Given the description of an element on the screen output the (x, y) to click on. 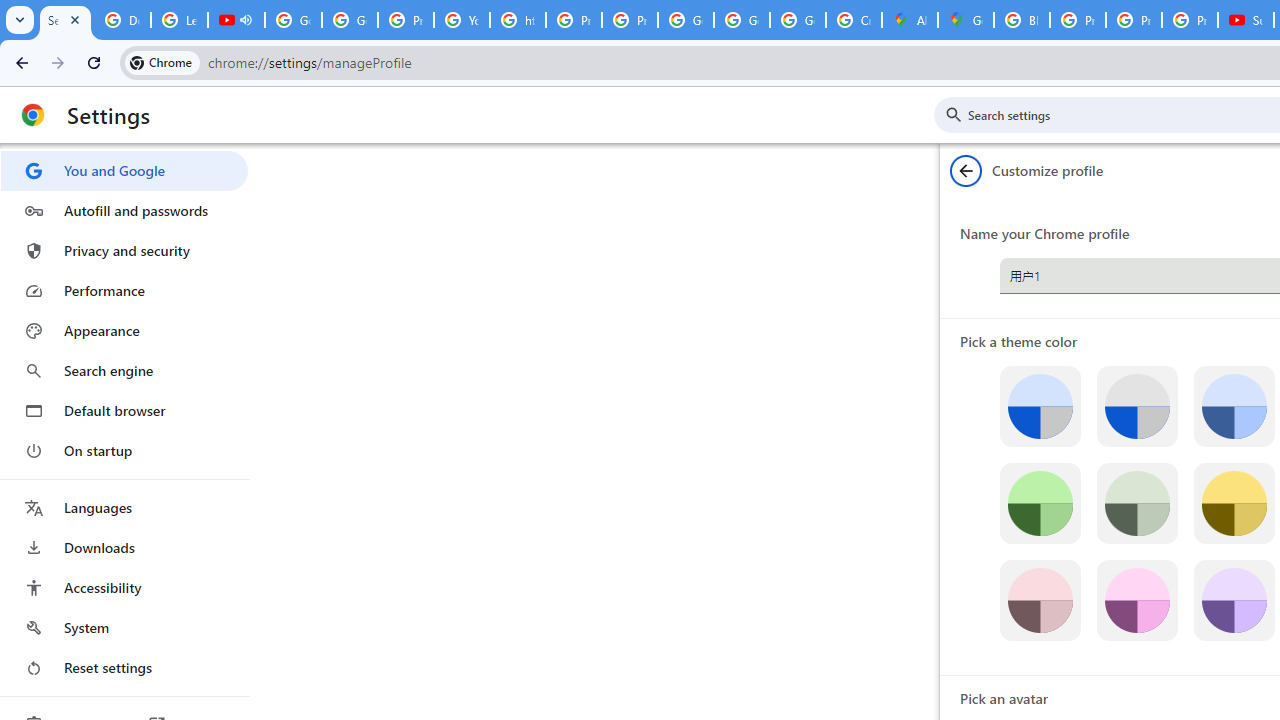
Downloads (124, 547)
Privacy Help Center - Policies Help (573, 20)
Languages (124, 507)
Performance (124, 290)
Google Maps (966, 20)
On startup (124, 450)
Accessibility (124, 587)
Mute tab (245, 20)
